Given the description of an element on the screen output the (x, y) to click on. 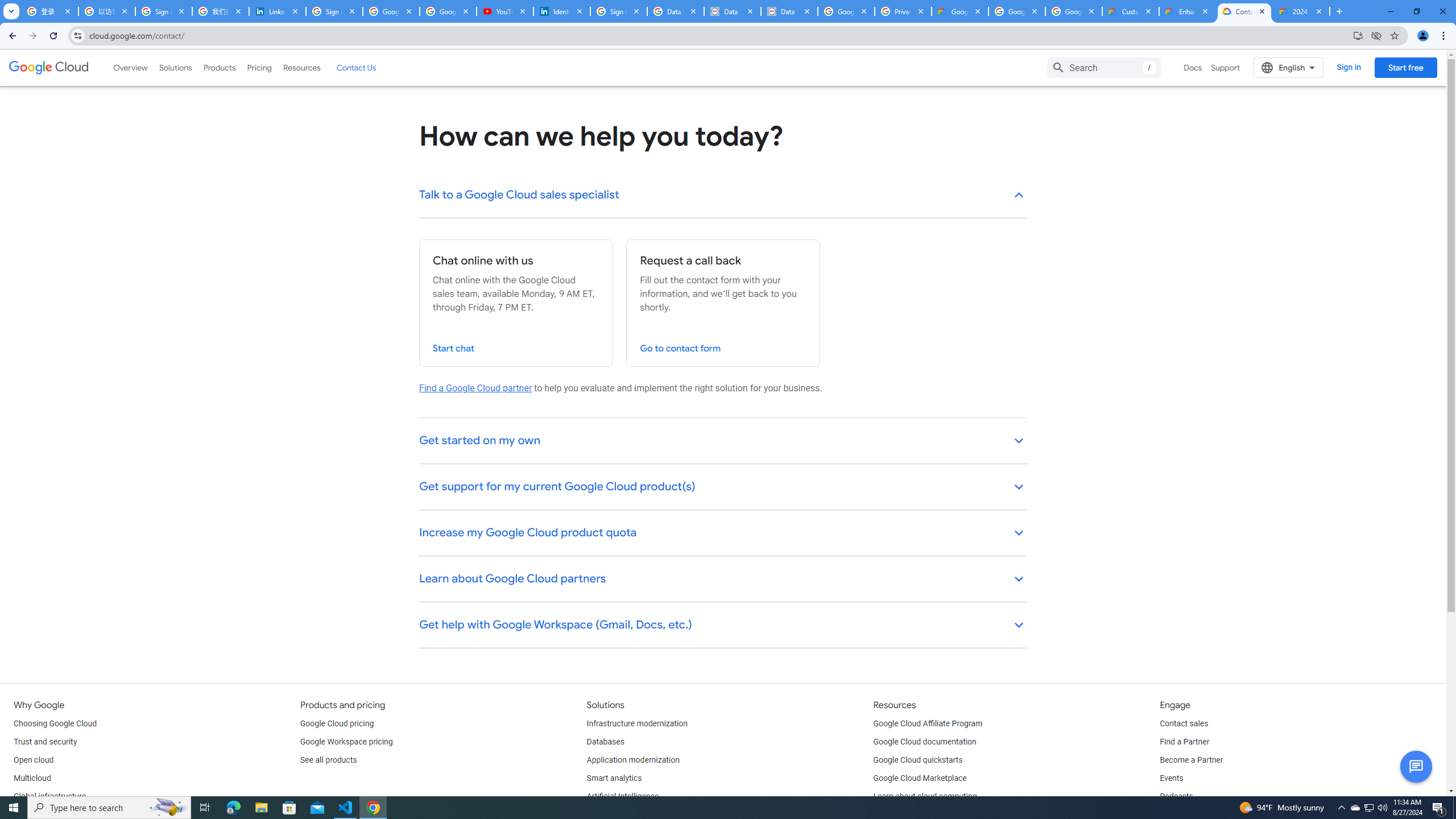
Learn about cloud computing (924, 796)
Choosing Google Cloud (55, 723)
Application modernization (632, 760)
Data Privacy Framework (788, 11)
Contact Us (355, 67)
Start free (1405, 67)
Google Workspace - Specific Terms (1015, 11)
Products (218, 67)
Solutions (175, 67)
Find a Google Cloud partner (475, 387)
